Given the description of an element on the screen output the (x, y) to click on. 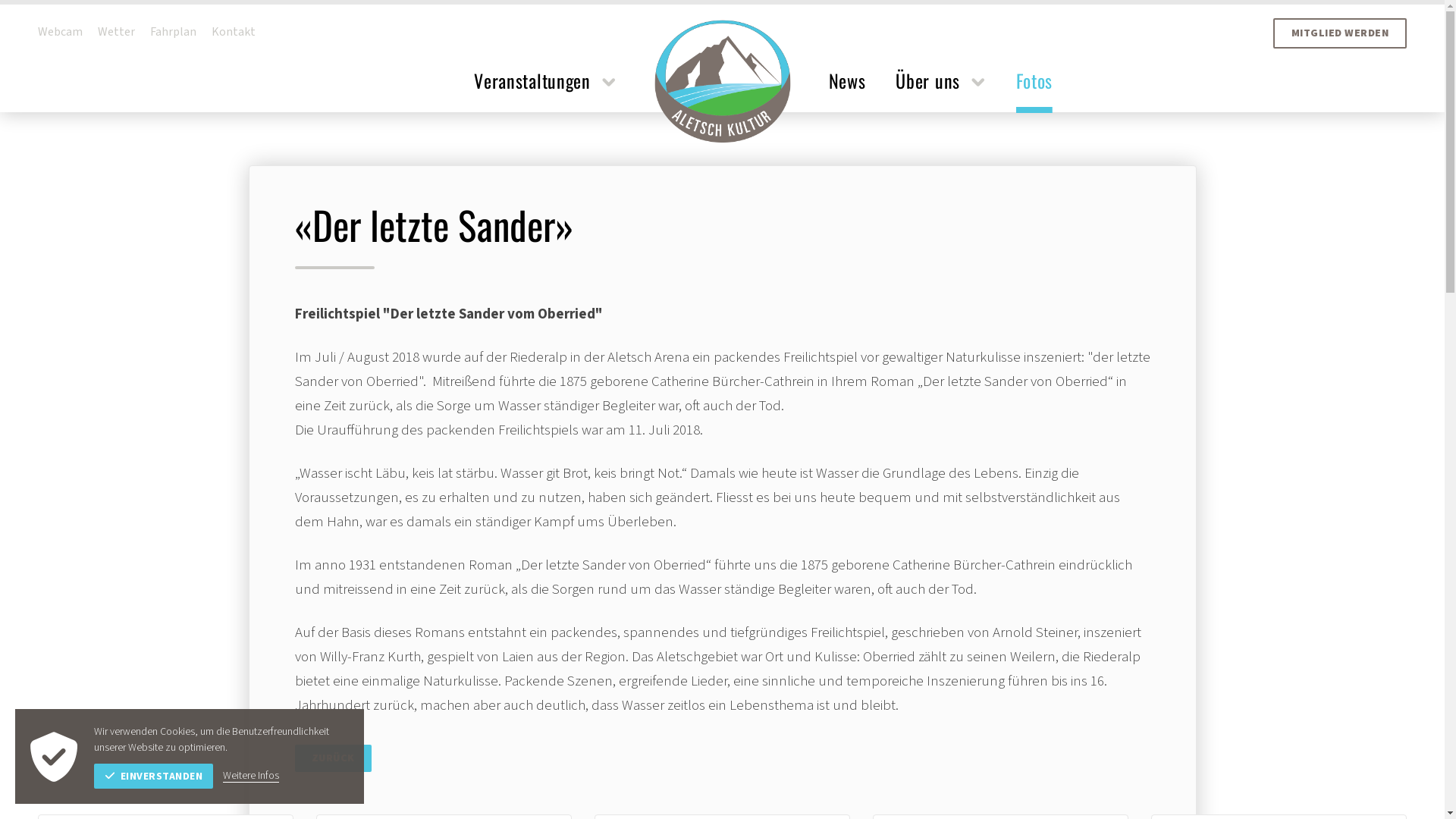
Veranstaltungen Element type: text (544, 90)
Fotos Element type: text (1034, 90)
Fahrplan Element type: text (180, 31)
Webcam Element type: text (67, 31)
Kontakt Element type: text (240, 31)
Weitere Infos Element type: text (250, 776)
News Element type: text (846, 90)
MITGLIED WERDEN Element type: text (1339, 33)
Wetter Element type: text (123, 31)
EINVERSTANDEN Element type: text (153, 775)
